Given the description of an element on the screen output the (x, y) to click on. 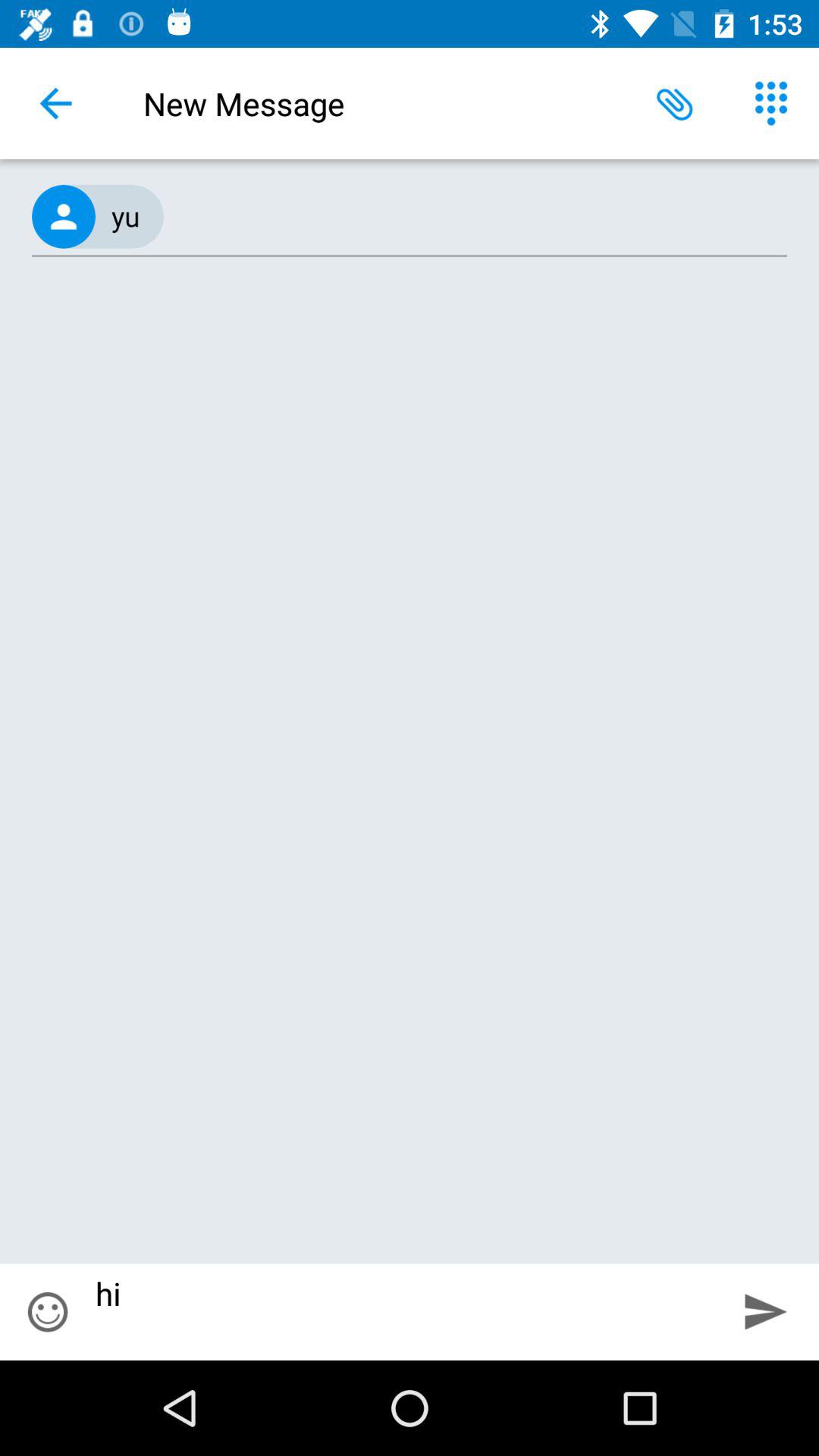
turn off the (667) 676-5778, (409, 216)
